Given the description of an element on the screen output the (x, y) to click on. 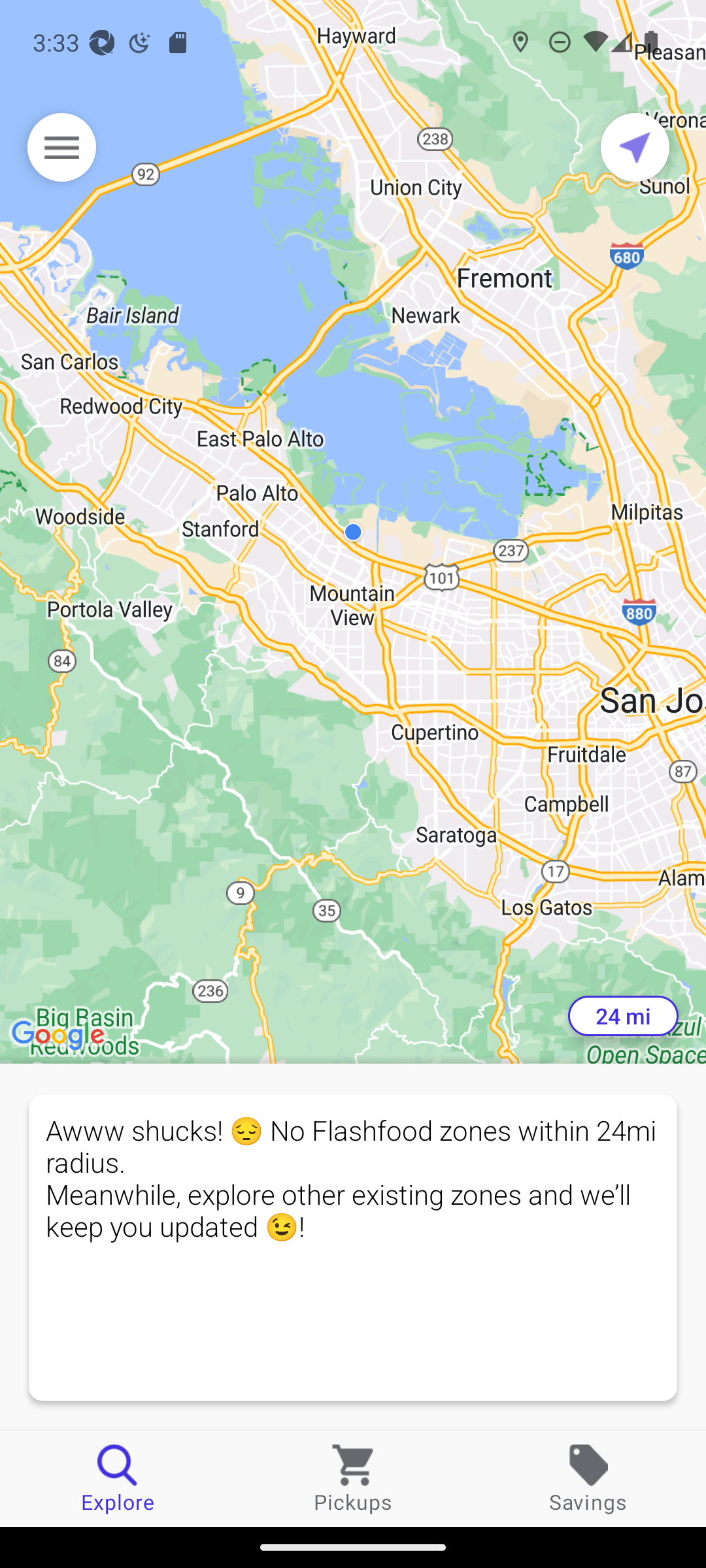
Menu (61, 146)
Current location (634, 146)
24 mi (623, 1015)
Pickups (352, 1478)
Savings (588, 1478)
